Given the description of an element on the screen output the (x, y) to click on. 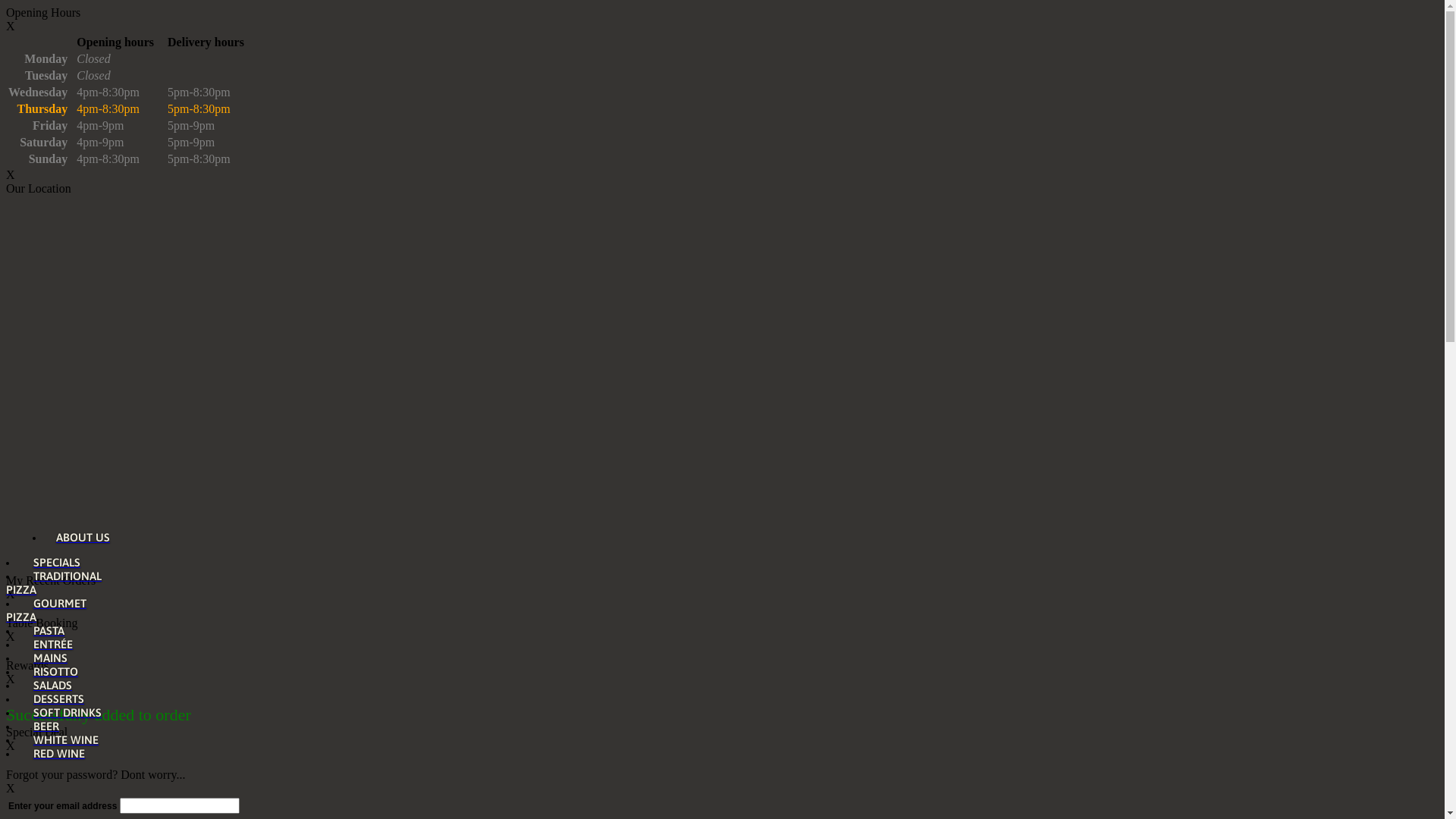
TRADITIONAL PIZZA Element type: text (53, 583)
RISOTTO Element type: text (50, 671)
GOURMET PIZZA Element type: text (46, 610)
SOFT DRINKS Element type: text (62, 712)
DESSERTS Element type: text (53, 699)
SPECIALS Element type: text (51, 562)
SALADS Element type: text (47, 685)
RED WINE Element type: text (54, 753)
MAINS Element type: text (45, 658)
BEER Element type: text (41, 726)
PASTA Element type: text (43, 630)
ABOUT US Element type: text (76, 537)
WHITE WINE Element type: text (60, 740)
